Given the description of an element on the screen output the (x, y) to click on. 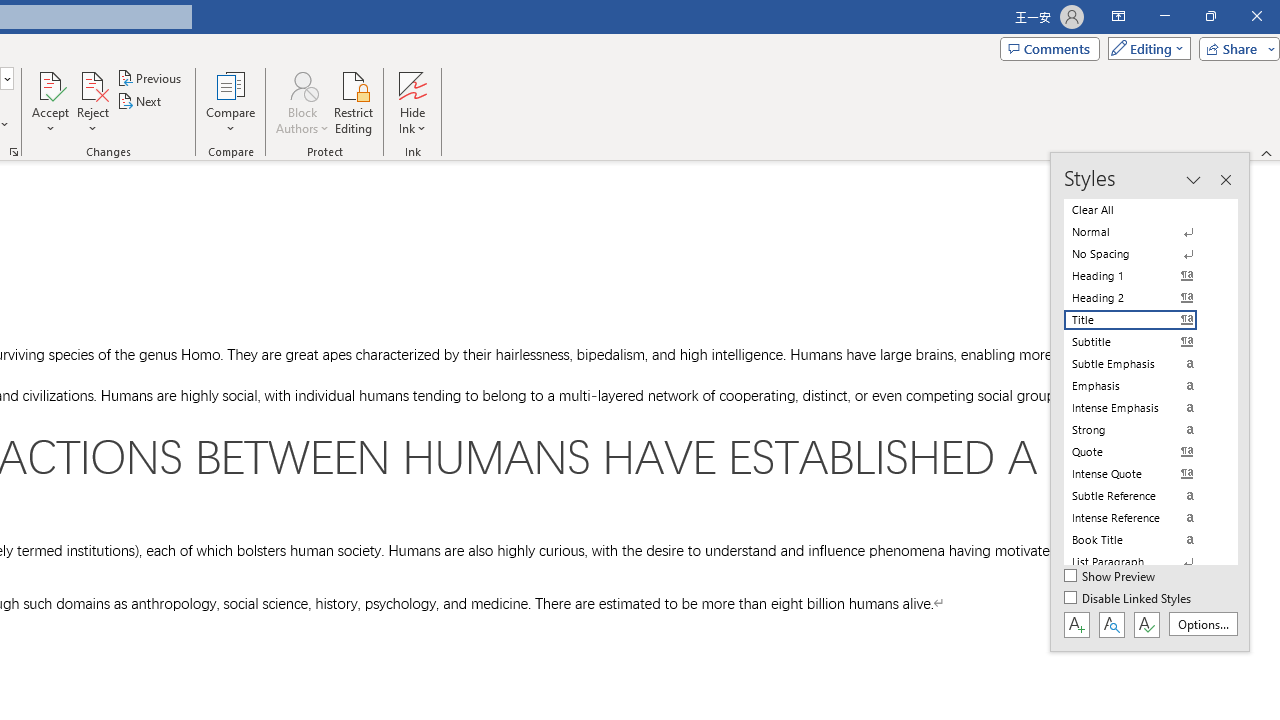
Strong (1142, 429)
Options... (1202, 623)
Normal (1142, 232)
Change Tracking Options... (13, 151)
Intense Quote (1142, 473)
Clear All (1142, 209)
Open (6, 78)
Hide Ink (412, 102)
Hide Ink (412, 84)
Accept (50, 102)
Task Pane Options (1193, 179)
